Given the description of an element on the screen output the (x, y) to click on. 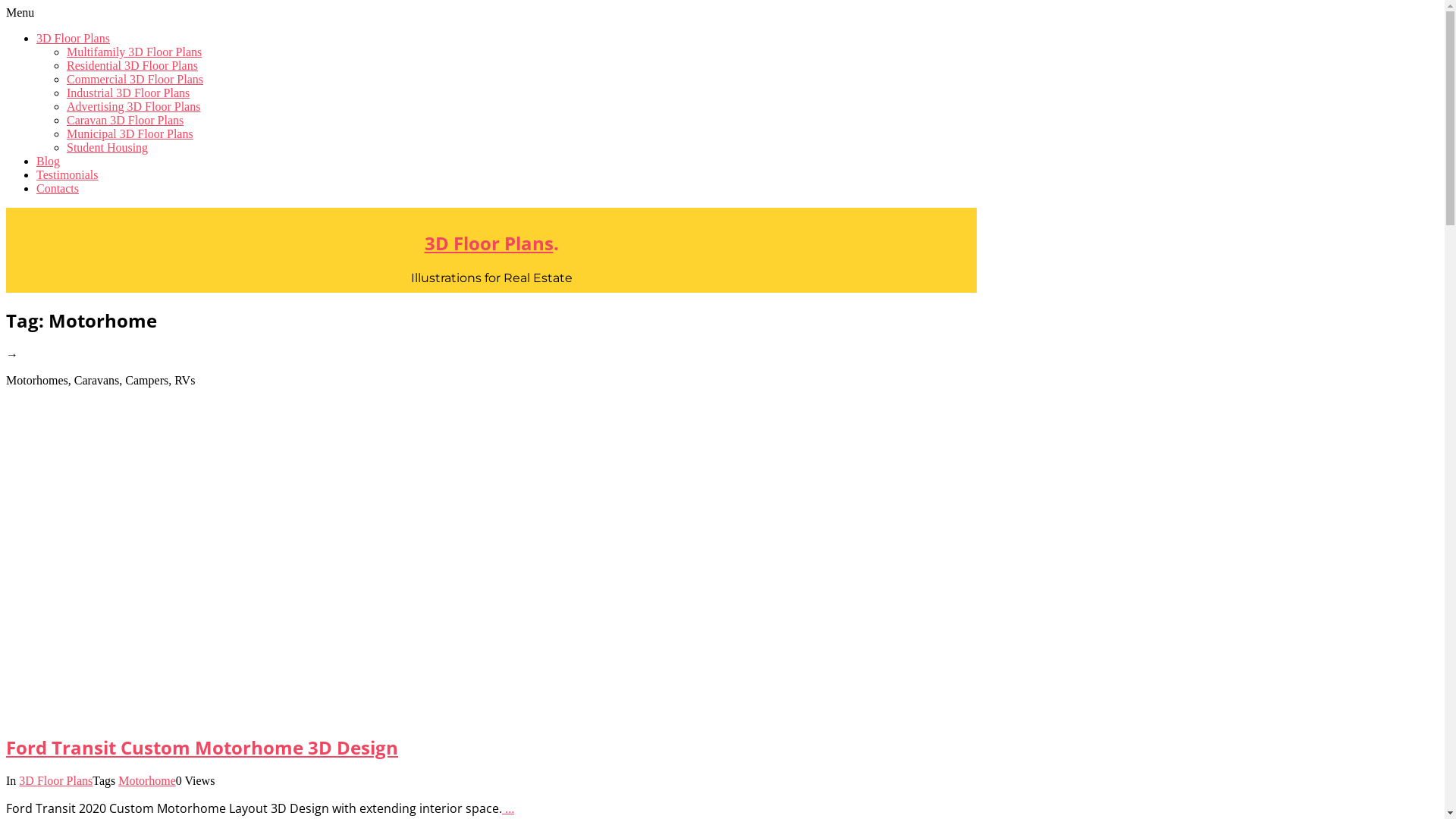
Multifamily 3D Floor Plans Element type: text (133, 51)
Testimonials Element type: text (67, 174)
Student Housing Element type: text (106, 147)
Motorhome Element type: text (146, 780)
3D Floor Plans Element type: text (72, 37)
Commercial 3D Floor Plans Element type: text (134, 78)
Ford Transit Custom Motorhome 3D Design Element type: text (202, 746)
3D Floor Plans Element type: text (55, 780)
Municipal 3D Floor Plans Element type: text (129, 133)
Advertising 3D Floor Plans Element type: text (133, 106)
Industrial 3D Floor Plans Element type: text (127, 92)
Ford Transit Custom Motorhome 3D Design Element type: hover (491, 567)
Residential 3D Floor Plans Element type: text (131, 65)
3D Floor Plans Element type: text (488, 242)
Caravan 3D Floor Plans Element type: text (124, 119)
Contacts Element type: text (57, 188)
Blog Element type: text (47, 160)
